Given the description of an element on the screen output the (x, y) to click on. 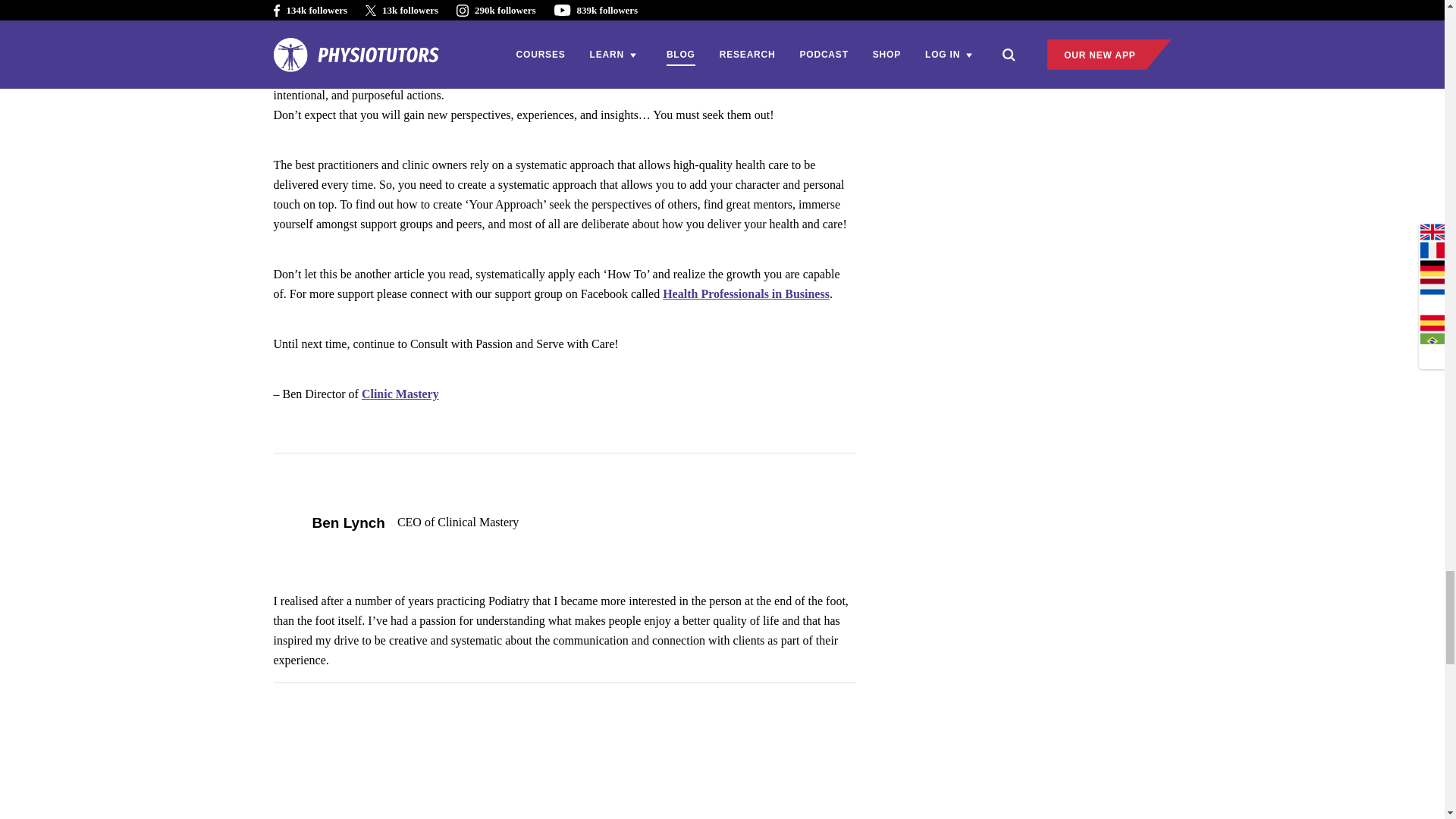
Clinic Mastery (400, 393)
Health Professionals in Business (745, 293)
